Given the description of an element on the screen output the (x, y) to click on. 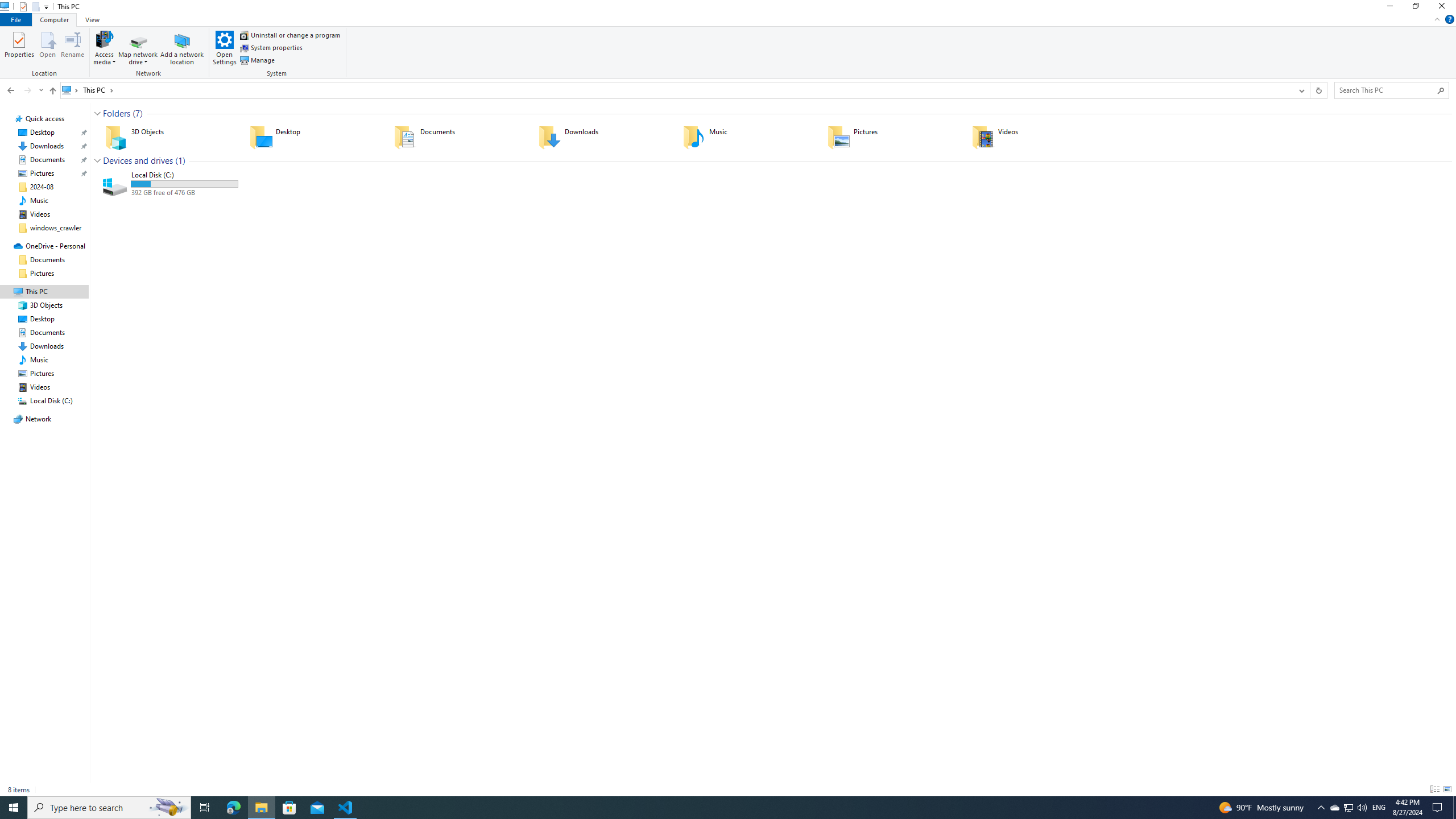
Manage (257, 60)
Customize Quick Access Toolbar (45, 6)
Videos (1036, 136)
Documents (458, 136)
Running applications (706, 807)
Count (180, 160)
Minimize the Ribbon (1436, 19)
Map network drive (137, 58)
Address: This PC (676, 90)
Downloads (603, 136)
Name (183, 174)
View (92, 19)
Open (47, 47)
Properties (19, 47)
